Given the description of an element on the screen output the (x, y) to click on. 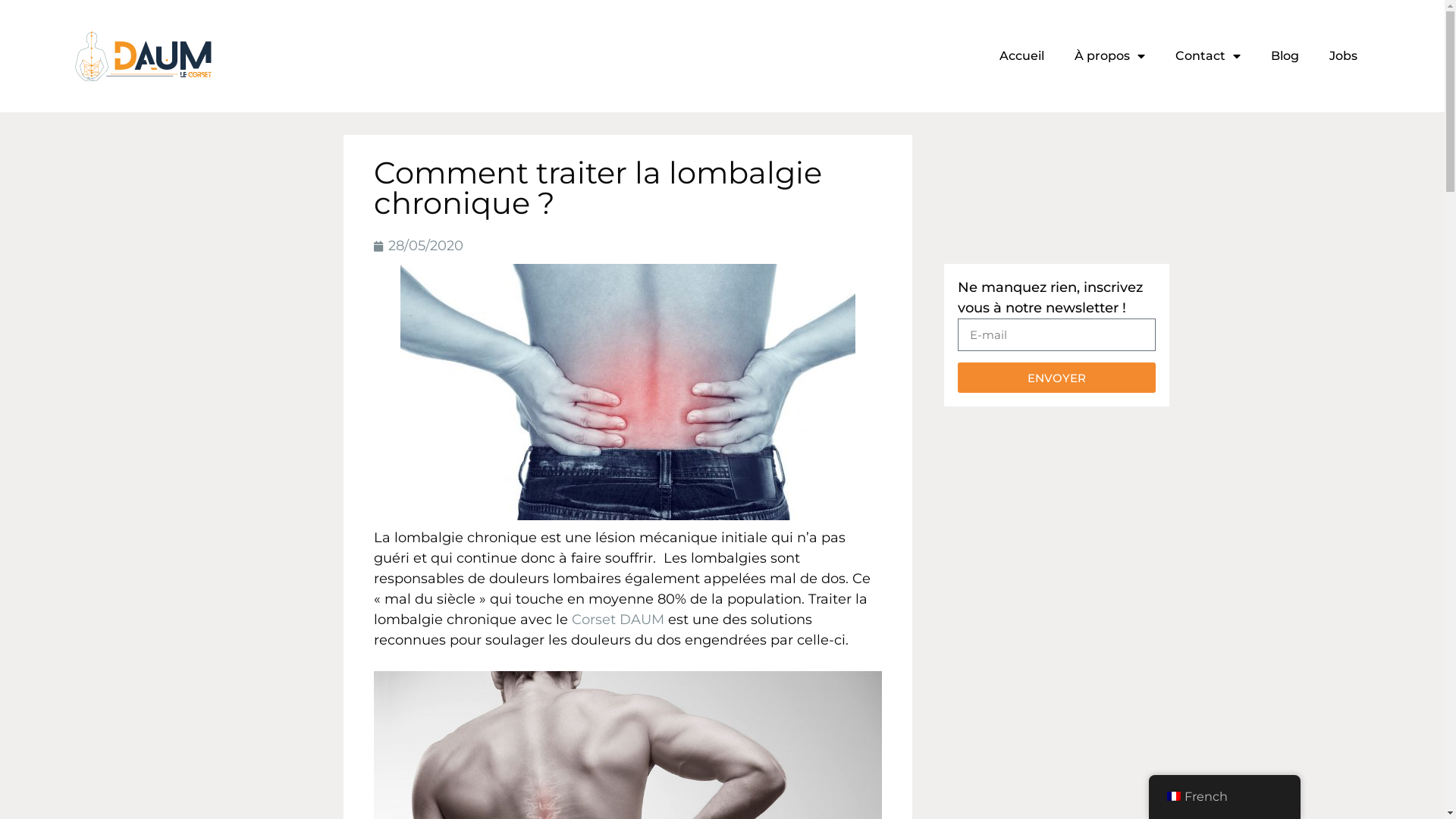
lombalgie chronique traitement Element type: hover (627, 391)
Contact Element type: text (1207, 55)
Jobs Element type: text (1343, 55)
French Element type: text (1223, 795)
Accueil Element type: text (1021, 55)
Blog Element type: text (1284, 55)
Corset DAUM Element type: text (617, 619)
French Element type: hover (1172, 795)
ENVOYER Element type: text (1056, 377)
28/05/2020 Element type: text (417, 245)
